Given the description of an element on the screen output the (x, y) to click on. 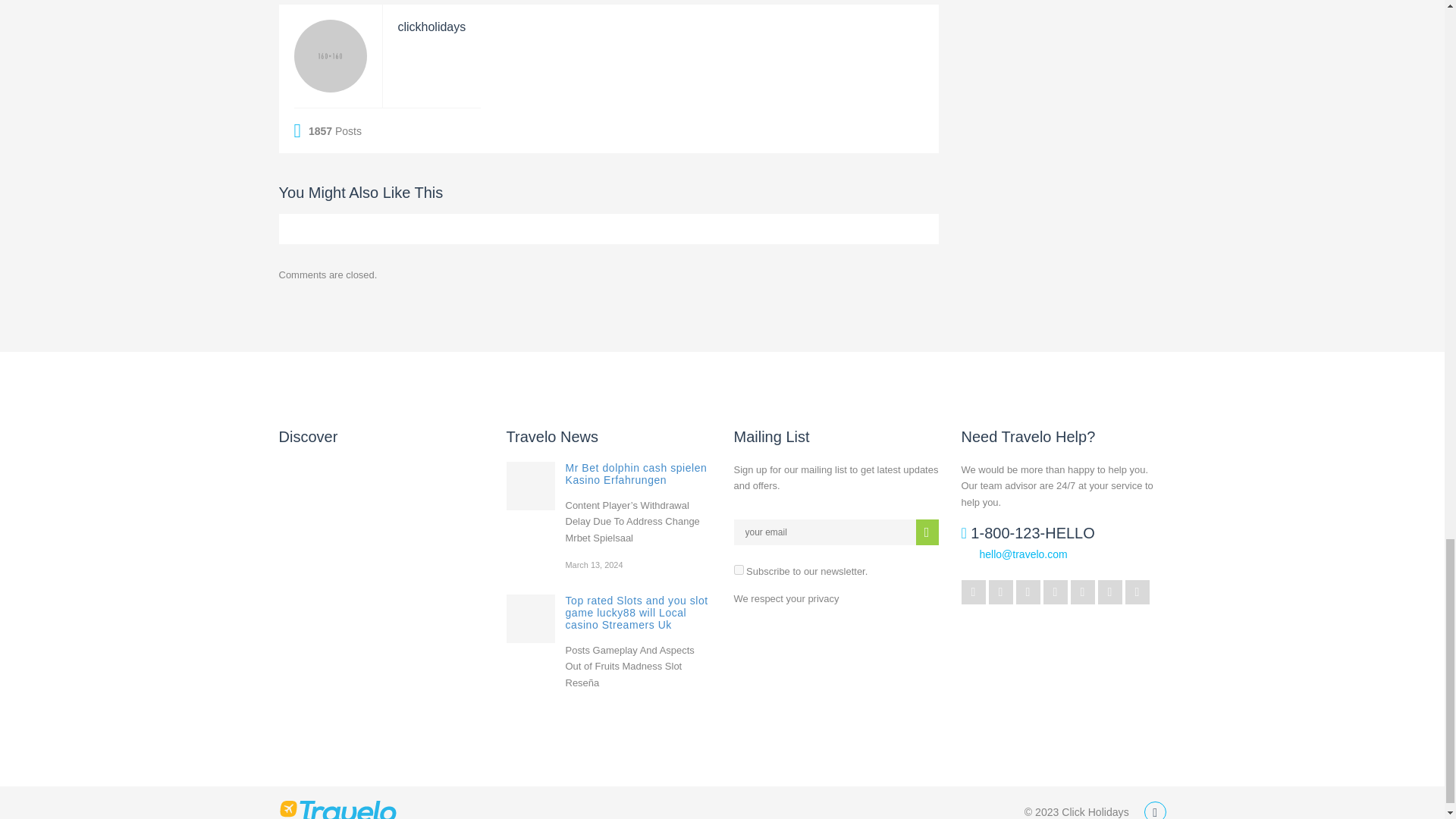
1 (738, 569)
Mr Bet dolphin cash spielen Kasino Erfahrungen (530, 485)
twitter (972, 591)
Posts by clickholidays (431, 26)
googleplus (1000, 591)
youtube (1082, 591)
facebook (1028, 591)
linkedin (1055, 591)
Mr Bet dolphin cash spielen Kasino Erfahrungen (636, 473)
